Given the description of an element on the screen output the (x, y) to click on. 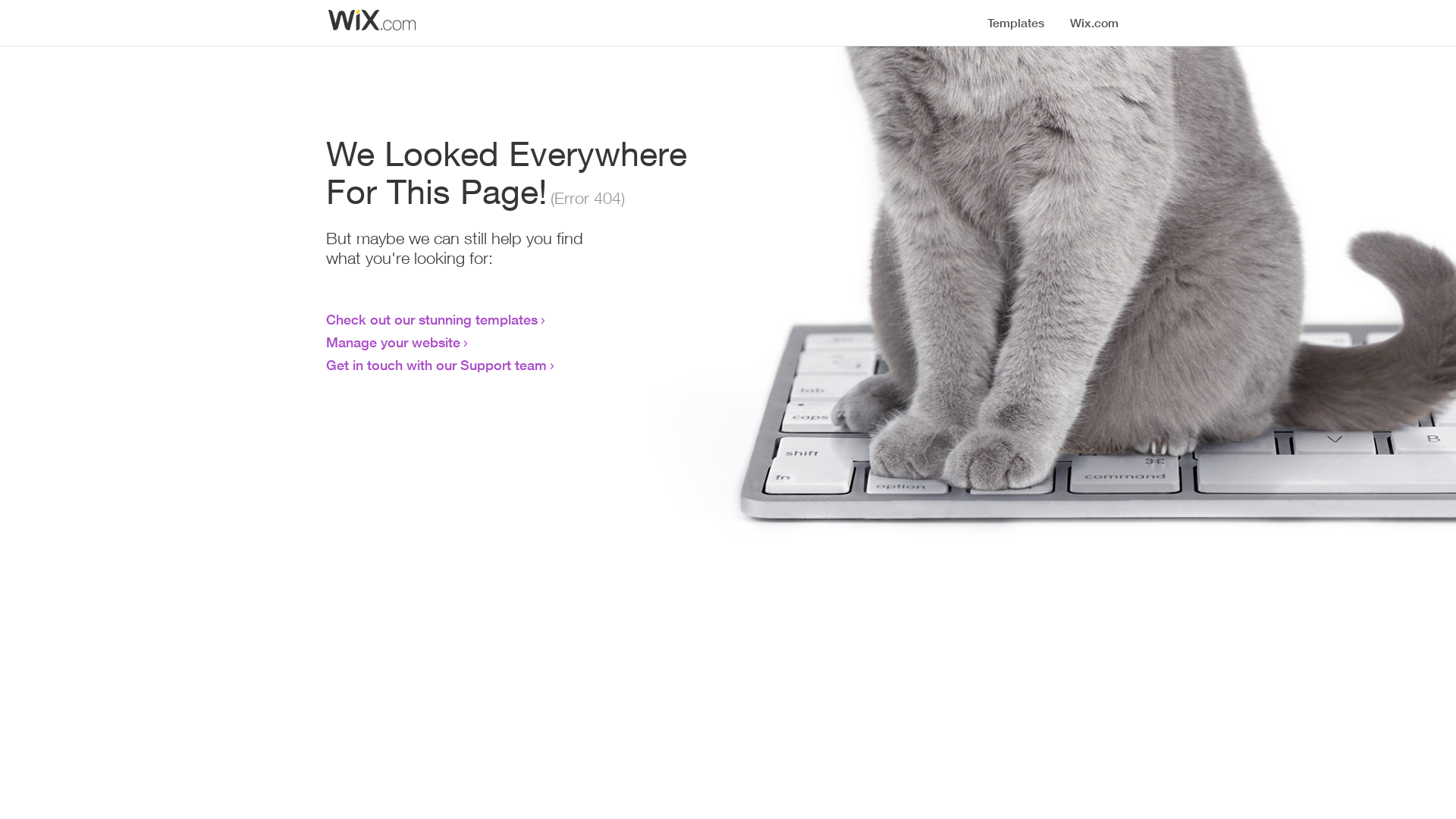
Get in touch with our Support team Element type: text (436, 364)
Manage your website Element type: text (393, 341)
Check out our stunning templates Element type: text (431, 318)
